Given the description of an element on the screen output the (x, y) to click on. 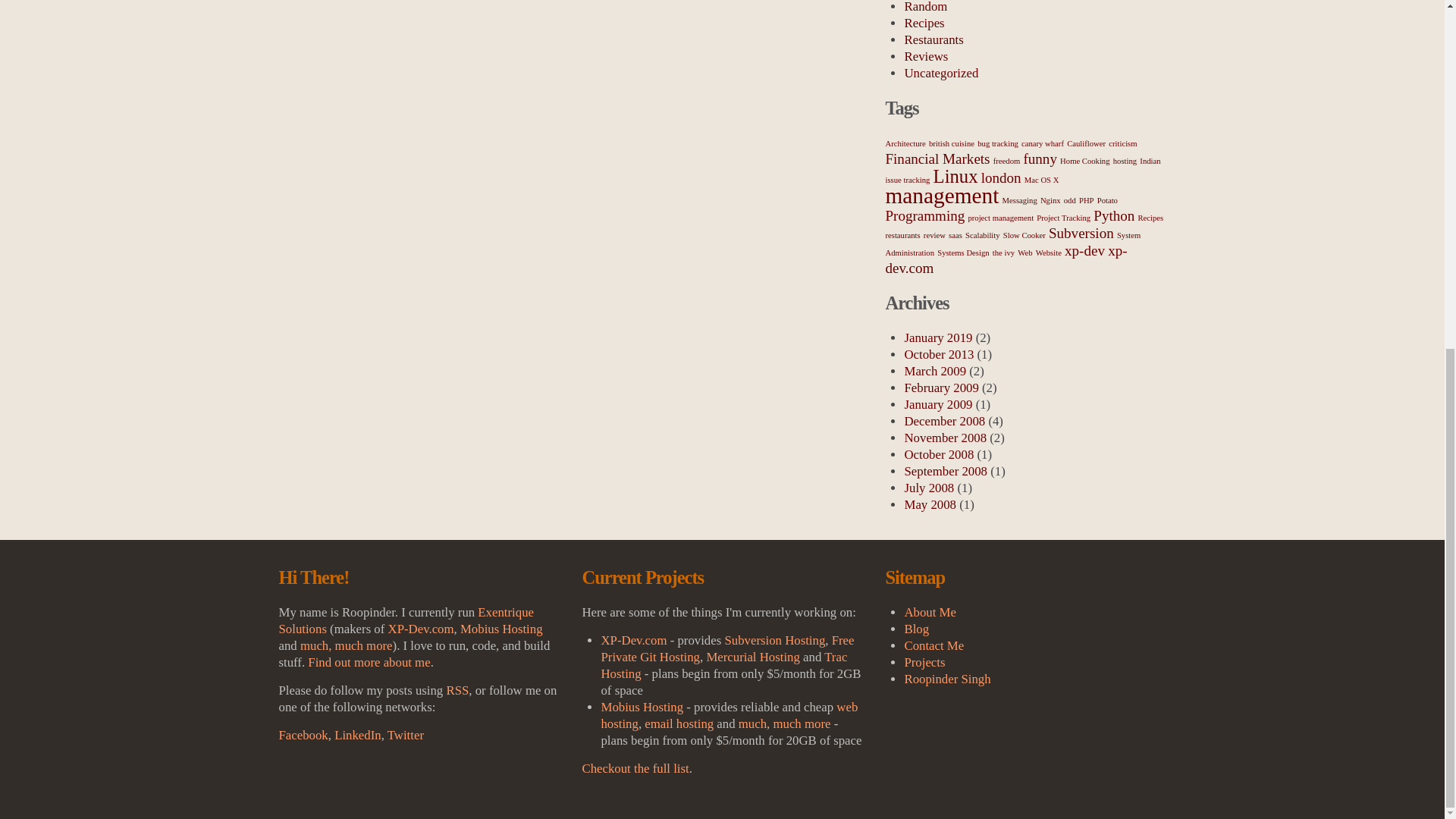
Architecture (904, 143)
bug tracking (996, 143)
Uncategorized (941, 73)
Reviews (925, 56)
british cuisine (951, 143)
Random (925, 6)
Recipes (923, 22)
Restaurants (933, 39)
canary wharf (1043, 143)
